Given the description of an element on the screen output the (x, y) to click on. 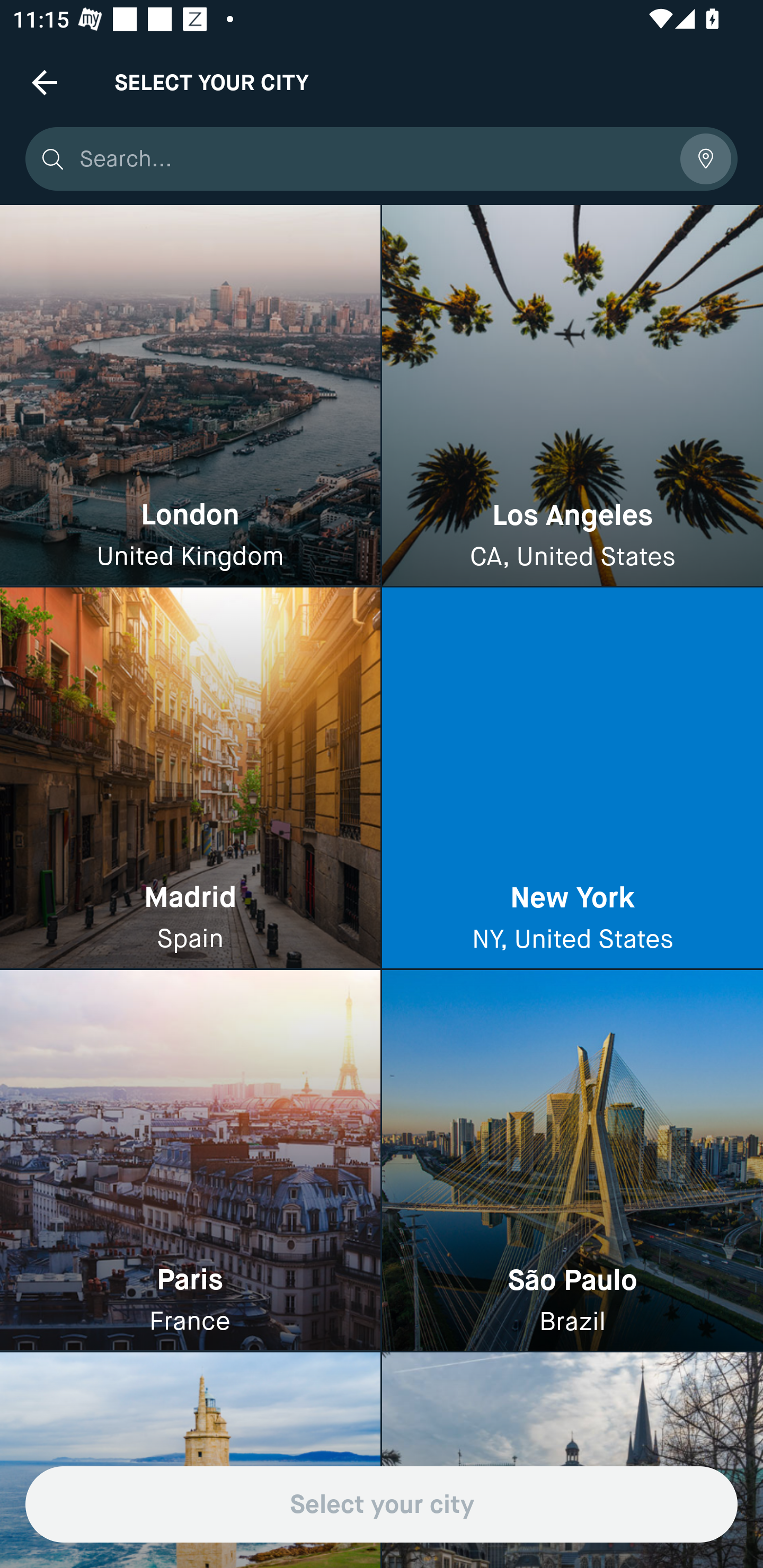
Navigate up (44, 82)
Search... (373, 159)
London United Kingdom (190, 395)
Los Angeles CA, United States (572, 395)
Madrid Spain (190, 778)
New York NY, United States (572, 778)
Paris France (190, 1160)
São Paulo Brazil (572, 1160)
Select your city (381, 1504)
